Given the description of an element on the screen output the (x, y) to click on. 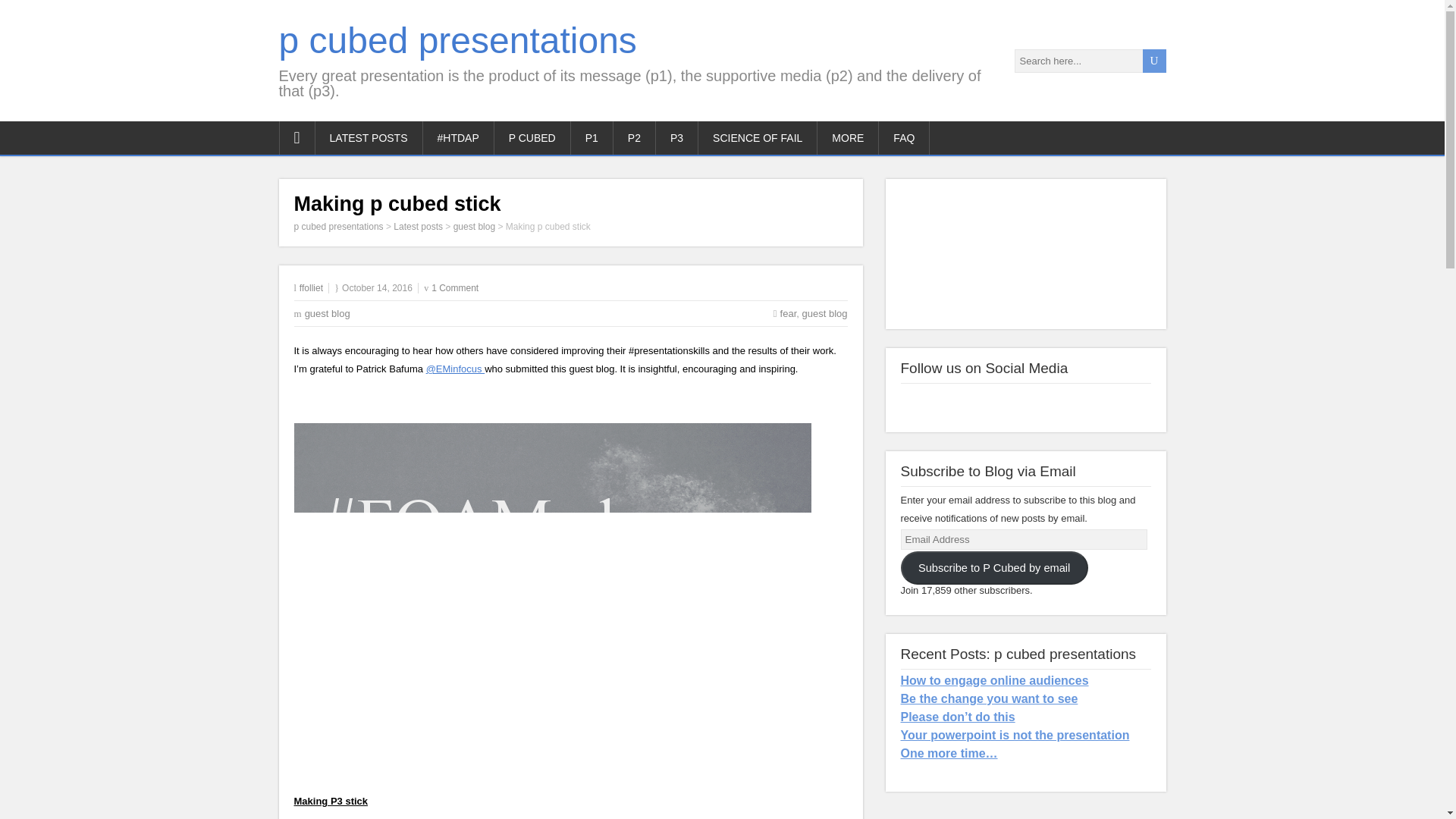
FAQ (904, 137)
guest blog (824, 313)
fear (788, 313)
guest blog (327, 313)
Posts by ffolliet (311, 287)
Go to p cubed presentations. (339, 226)
LATEST POSTS (369, 137)
ffolliet (311, 287)
1 Comment (454, 287)
P CUBED (532, 137)
